Given the description of an element on the screen output the (x, y) to click on. 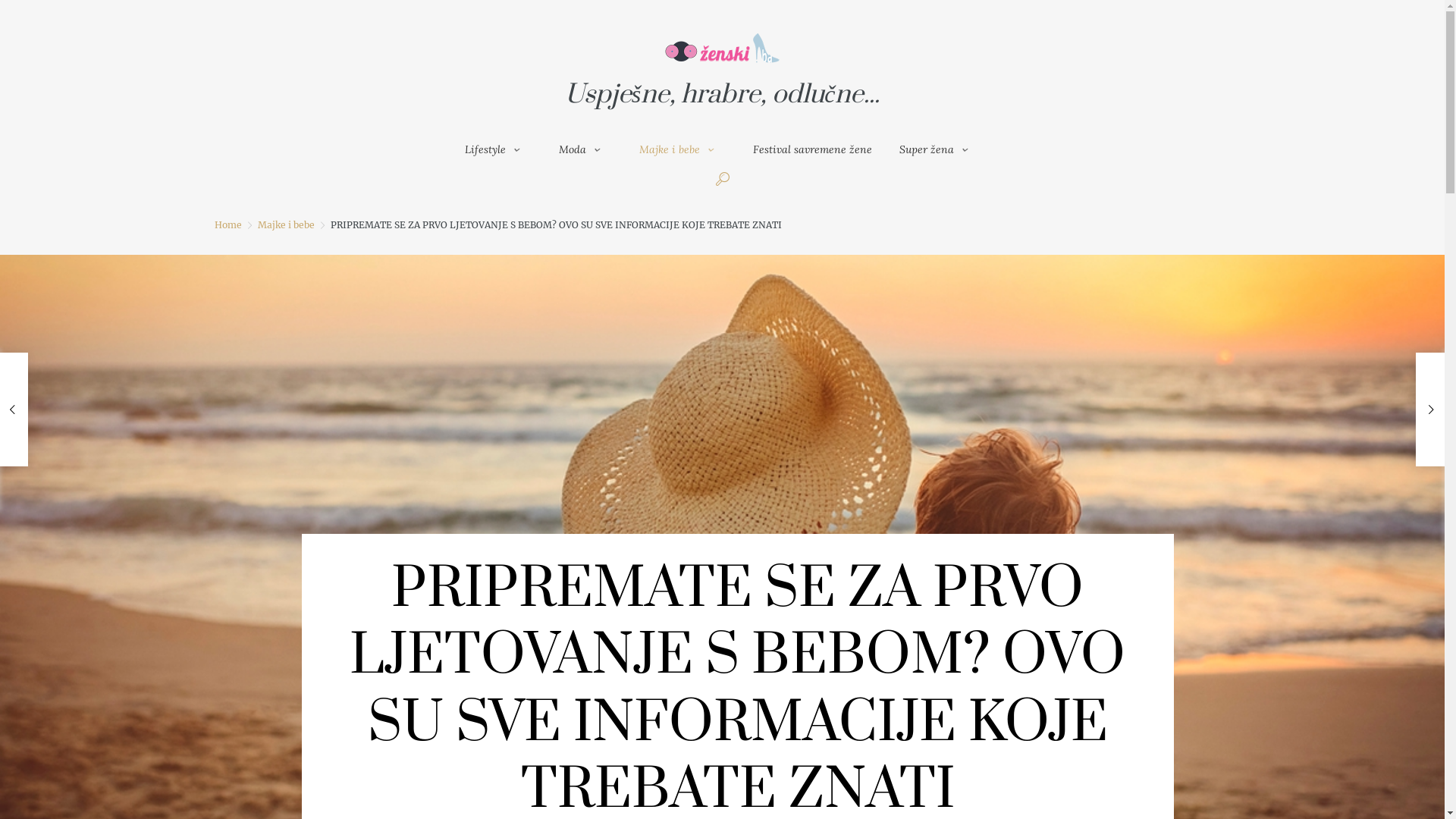
Majke i bebe Element type: text (682, 149)
Moda Element type: text (585, 149)
Home Element type: text (227, 224)
Lifestyle Element type: text (498, 149)
Search Element type: text (974, 375)
Majke i bebe Element type: text (285, 224)
